Given the description of an element on the screen output the (x, y) to click on. 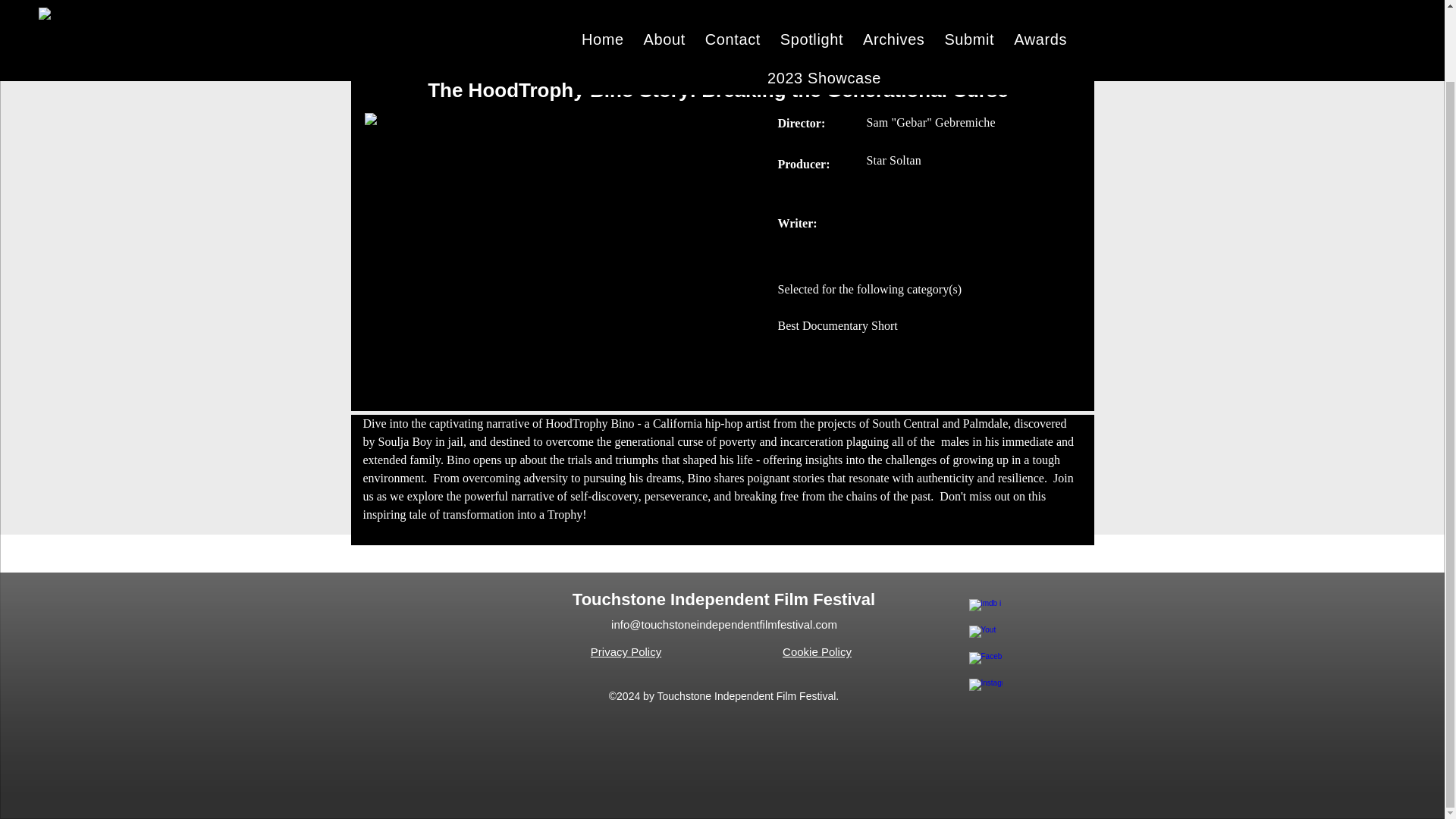
Privacy Policy (626, 651)
2023 Showcase (824, 7)
TIFF1142 Cover photo.jpg (562, 231)
Cookie Policy (817, 651)
